Given the description of an element on the screen output the (x, y) to click on. 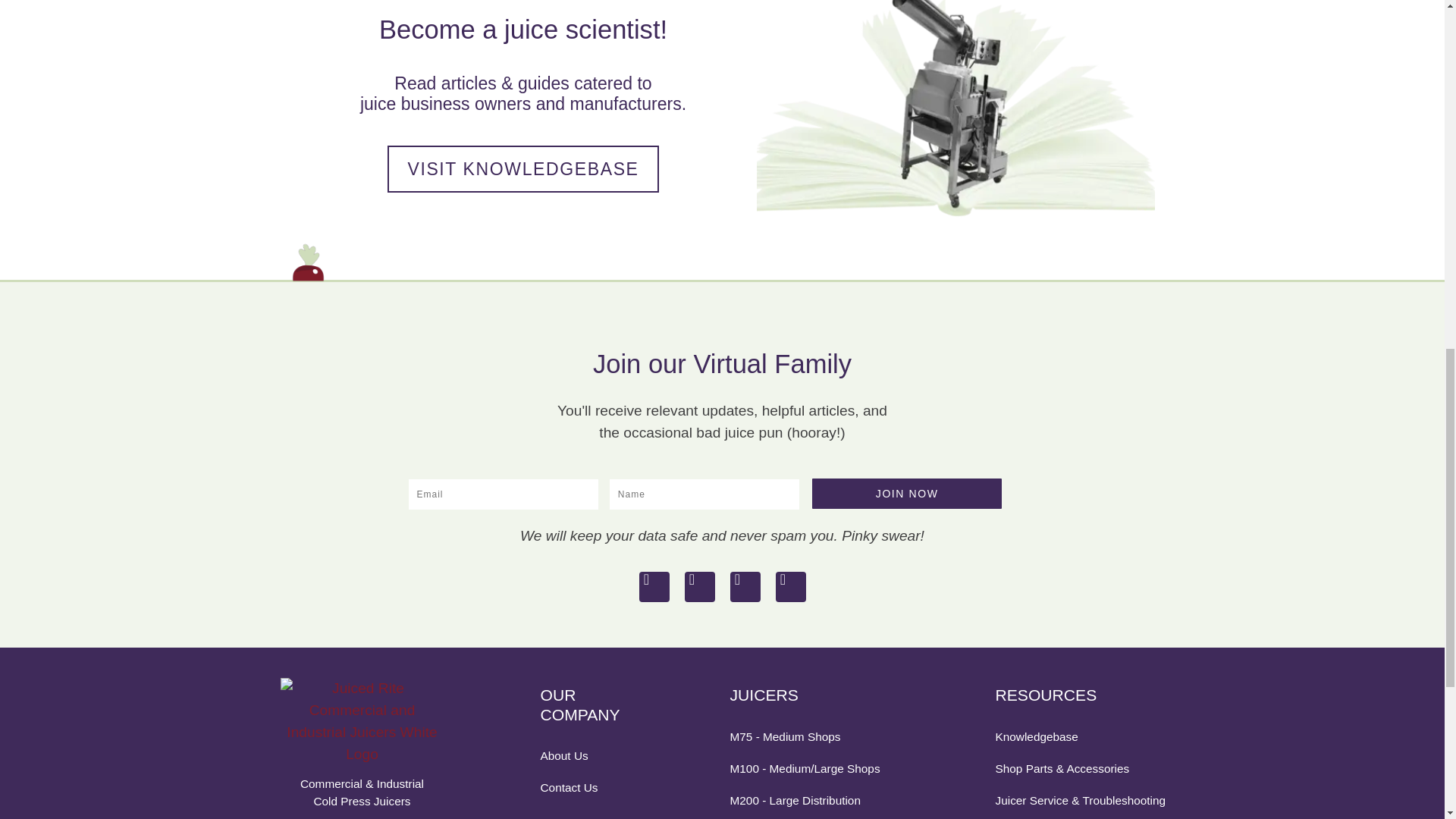
Join Now (906, 493)
About Us (589, 755)
VISIT KNOWLEDGEBASE (522, 169)
Contact Us (589, 787)
Knowledgebase (1081, 736)
M200 - Large Distribution (816, 800)
M75 - Medium Shops (816, 736)
